Given the description of an element on the screen output the (x, y) to click on. 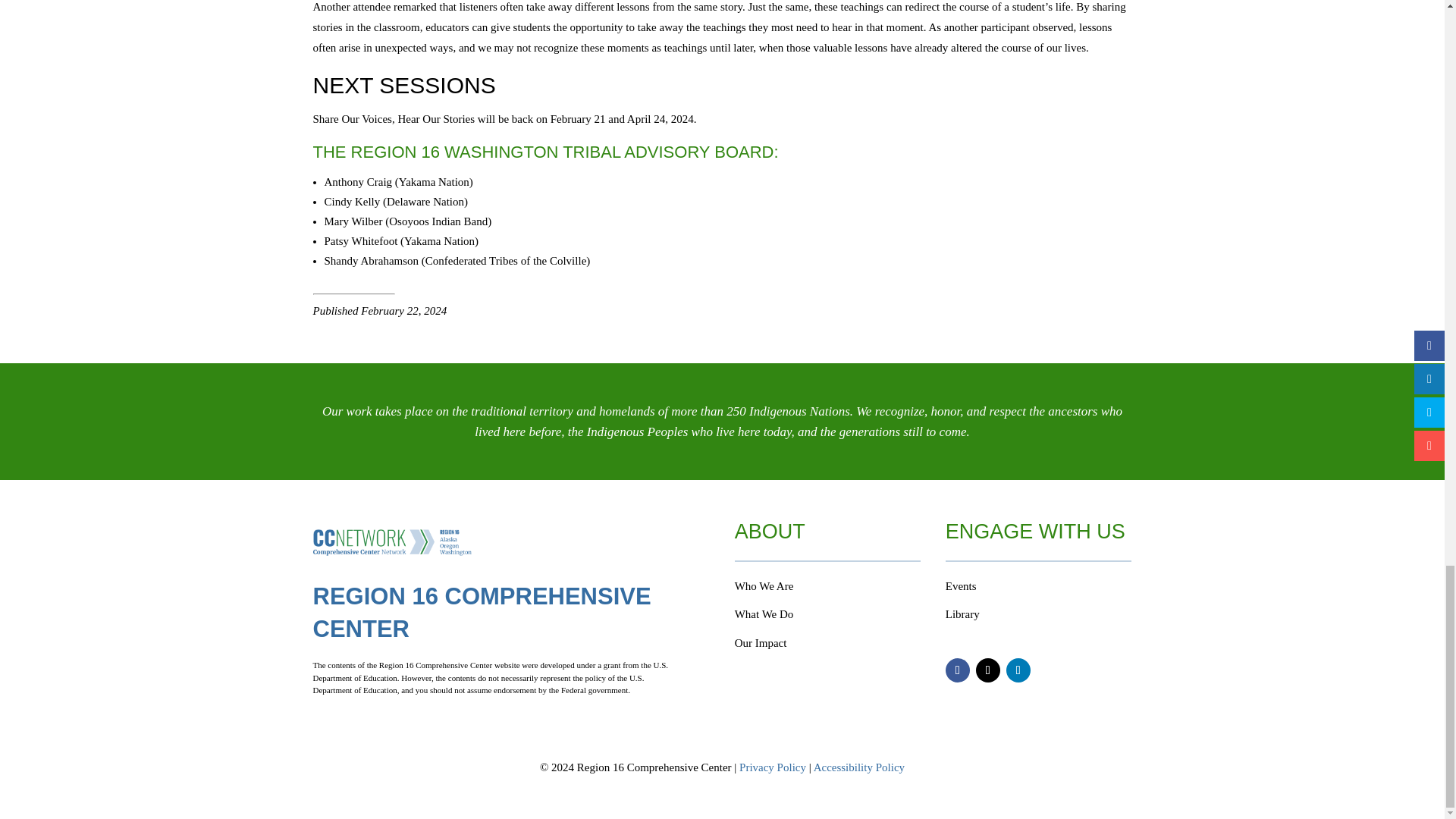
Who We Are (764, 585)
Events (960, 585)
What We Do (764, 613)
Library (961, 613)
Our Impact (761, 643)
